Given the description of an element on the screen output the (x, y) to click on. 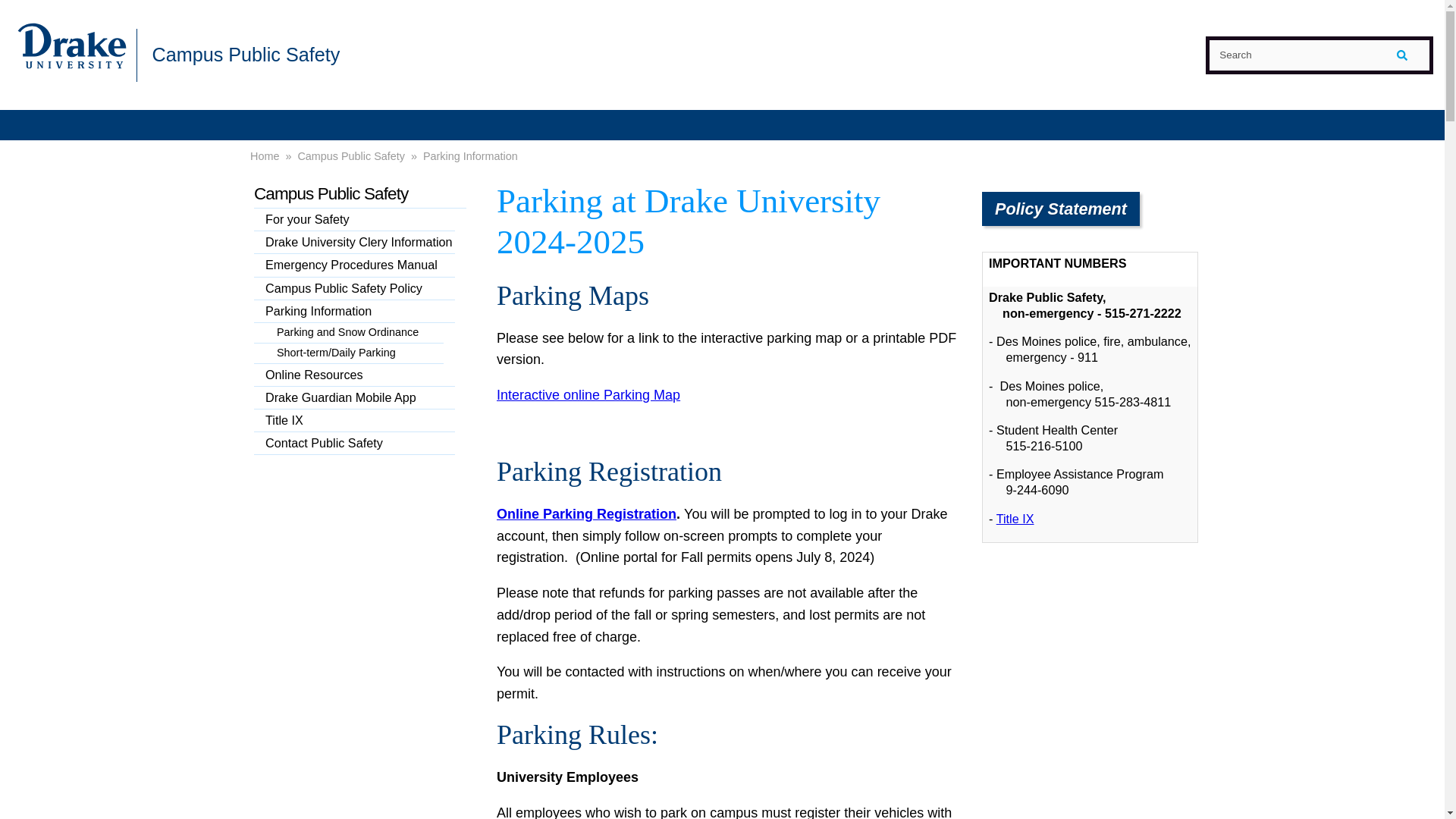
Campus Public Safety (245, 54)
Campus Public Safety (350, 156)
Emergency Procedures Manual (353, 264)
Drake University Parking Tag Registration (586, 513)
Drake University Clery Information (353, 241)
Search (1318, 55)
Campus Public Safety (359, 194)
For your Safety (353, 219)
Home (264, 156)
Search (1318, 55)
